Given the description of an element on the screen output the (x, y) to click on. 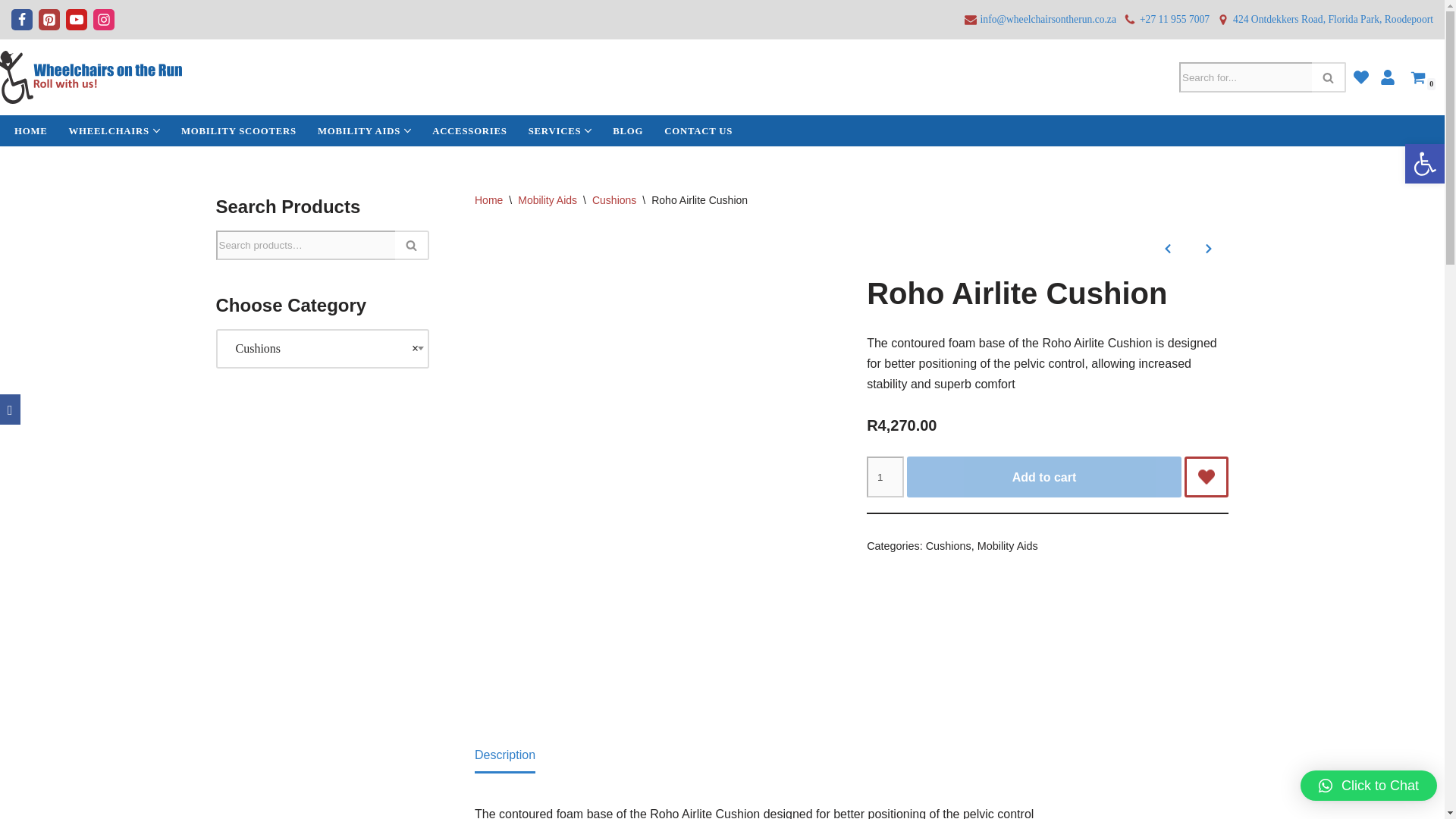
Pinterest (49, 19)
Skip to content (11, 31)
1 (884, 476)
Youtube (76, 19)
Facebook (21, 19)
HOME (31, 130)
MOBILITY AIDS (358, 130)
Accessibility Tools (1424, 163)
0 (1417, 77)
